Given the description of an element on the screen output the (x, y) to click on. 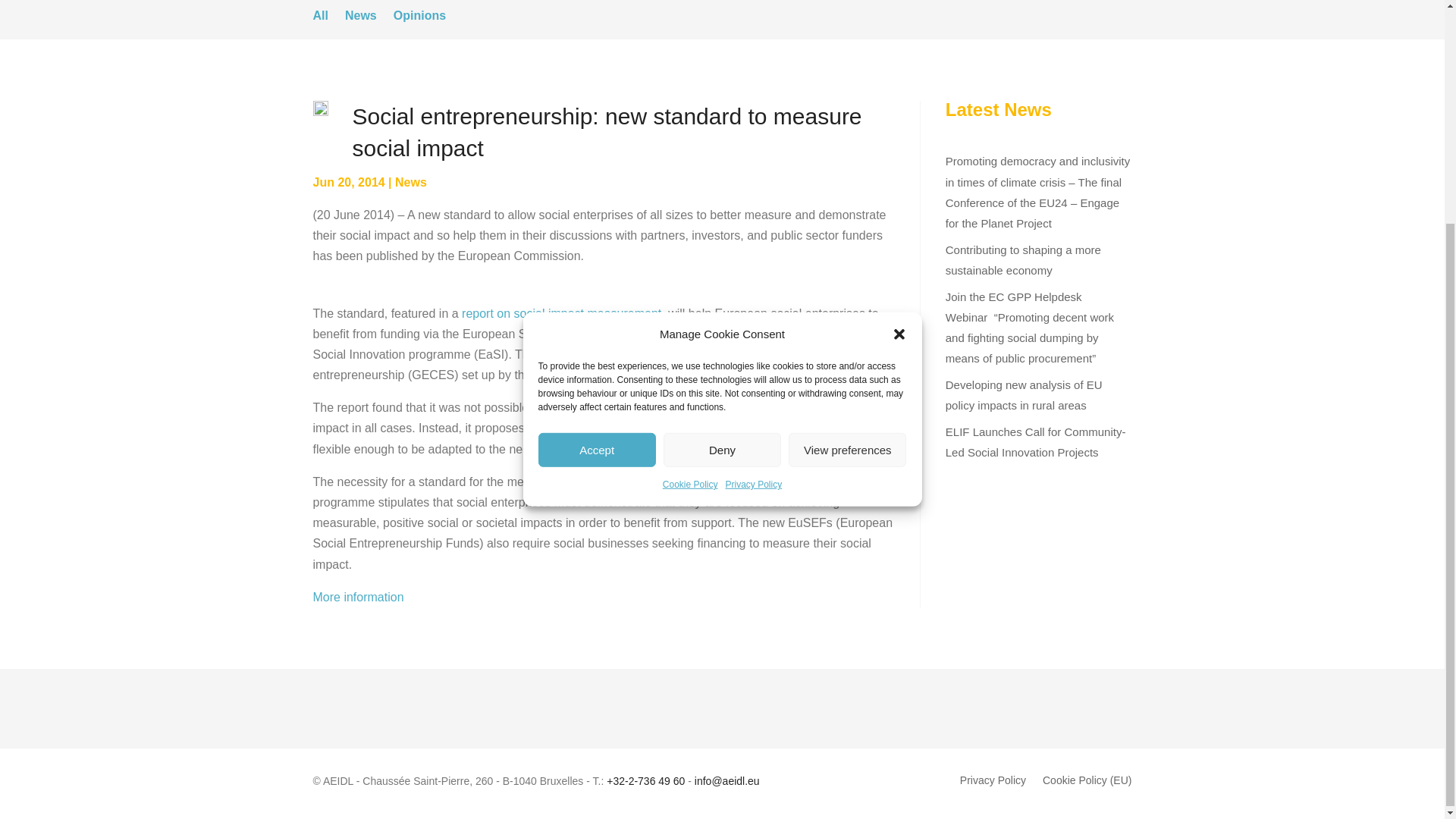
View preferences (847, 151)
arbre (320, 108)
Privacy Policy (753, 186)
Cookie Policy (689, 186)
Deny (721, 151)
Accept (597, 151)
